Given the description of an element on the screen output the (x, y) to click on. 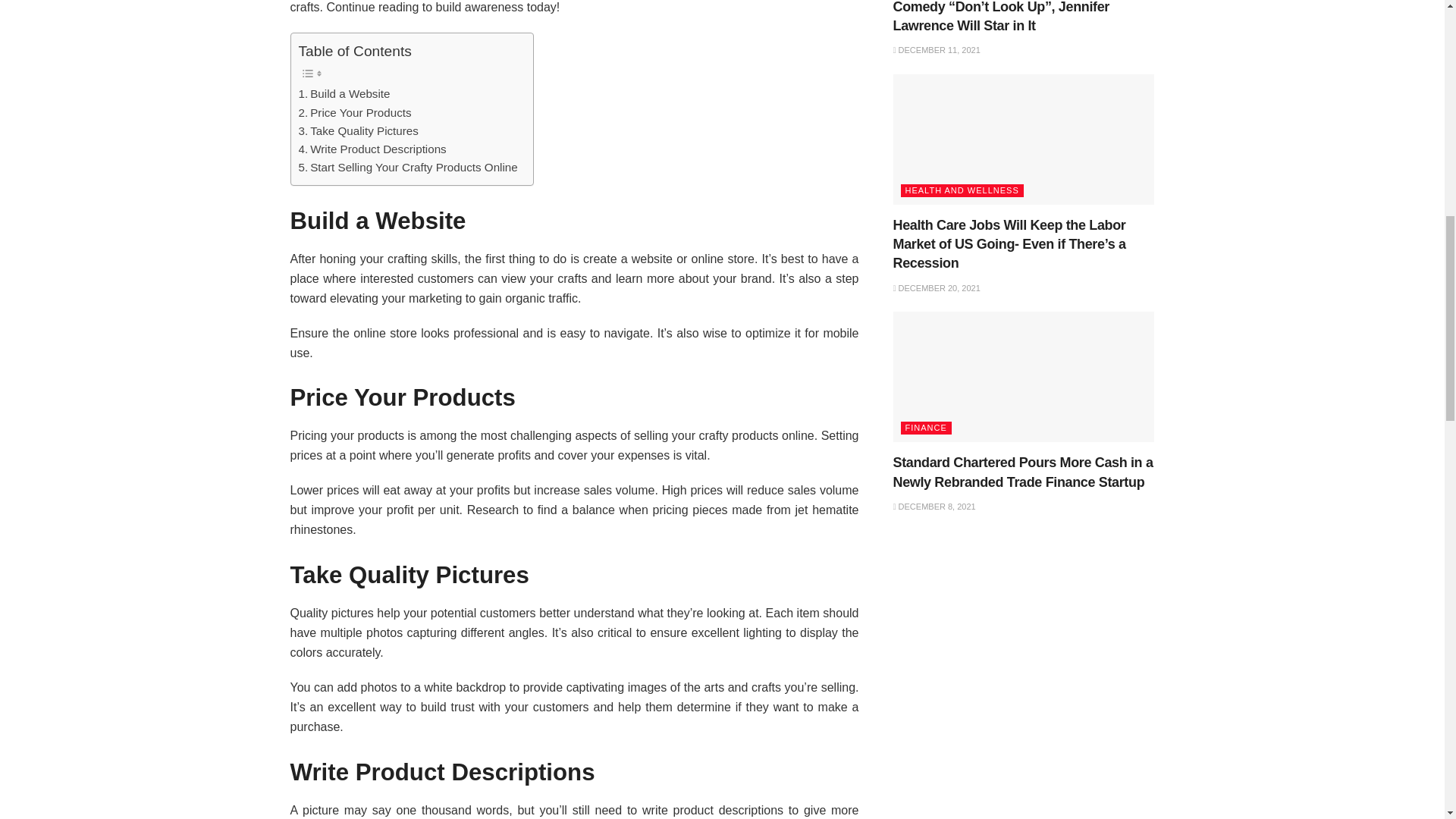
Price Your Products (355, 113)
Take Quality Pictures (358, 131)
Build a Website (344, 94)
Build a Website (344, 94)
Take Quality Pictures (358, 131)
Write Product Descriptions (372, 149)
Price Your Products (355, 113)
Write Product Descriptions (372, 149)
Start Selling Your Crafty Products Online (408, 167)
